Given the description of an element on the screen output the (x, y) to click on. 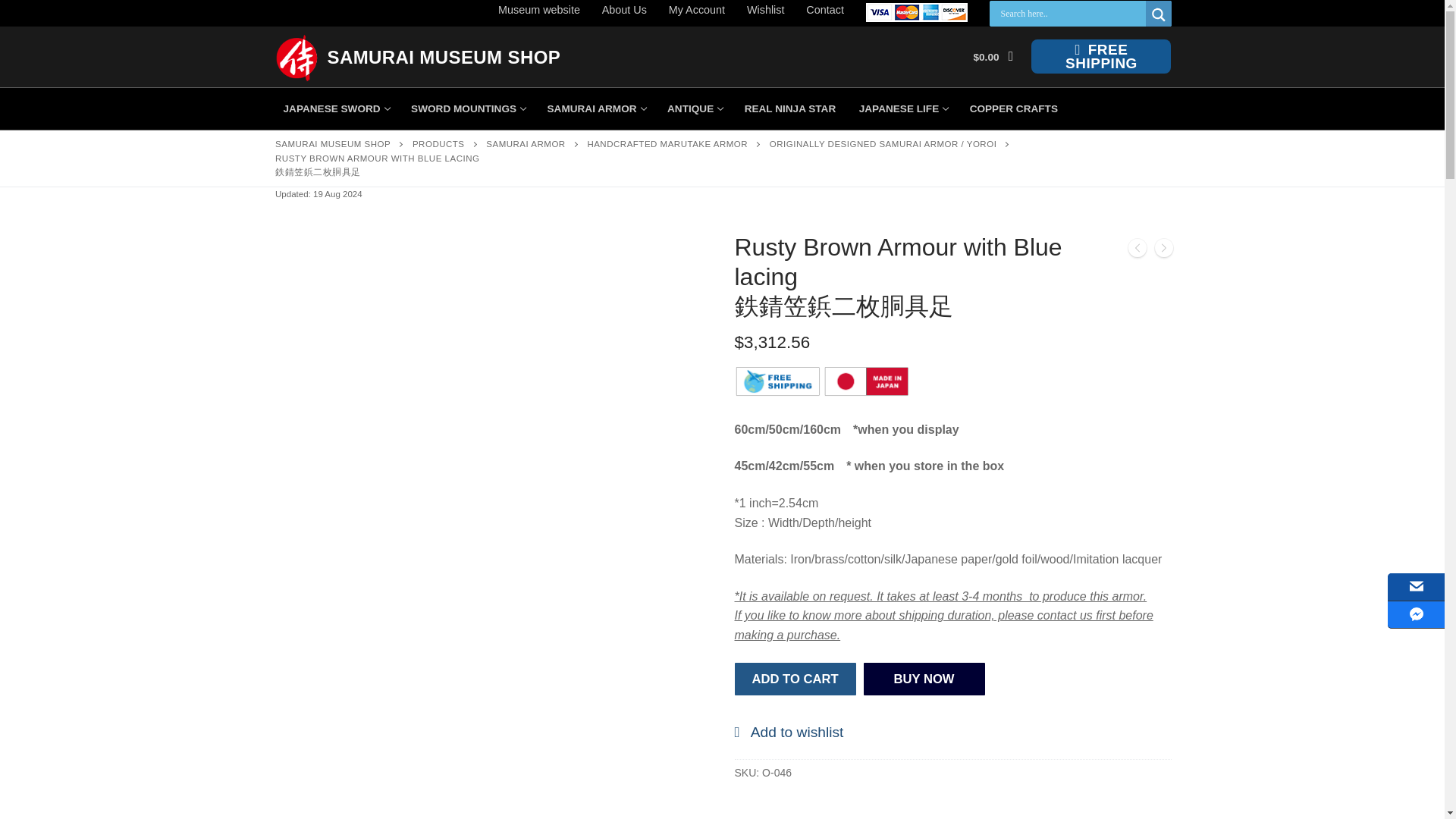
Go to Samurai Museum Shop. (332, 143)
Contact (825, 9)
Go to the Handcrafted Marutake Armor Category archives. (335, 109)
About Us (667, 143)
Go to Products. (624, 9)
FREE SHIPPING (438, 143)
SAMURAI MUSEUM SHOP (1100, 56)
Museum website (443, 56)
Wishlist (538, 9)
